Given the description of an element on the screen output the (x, y) to click on. 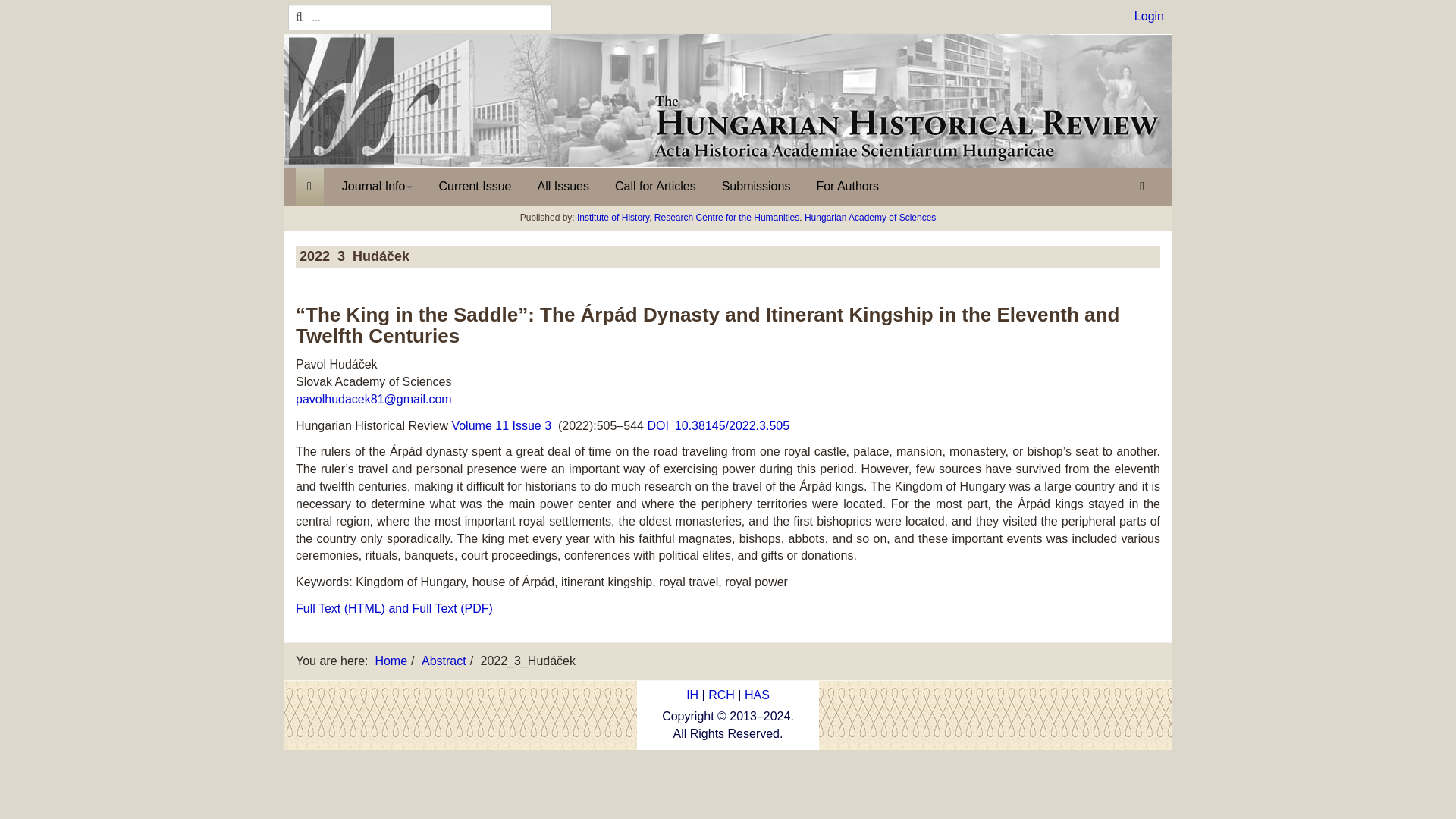
All Issues (562, 186)
Institute of History (612, 217)
Call for Articles (655, 186)
Current Issue (474, 186)
Login (1148, 15)
Submissions (756, 186)
For Authors (847, 186)
Journal Info (377, 186)
